Given the description of an element on the screen output the (x, y) to click on. 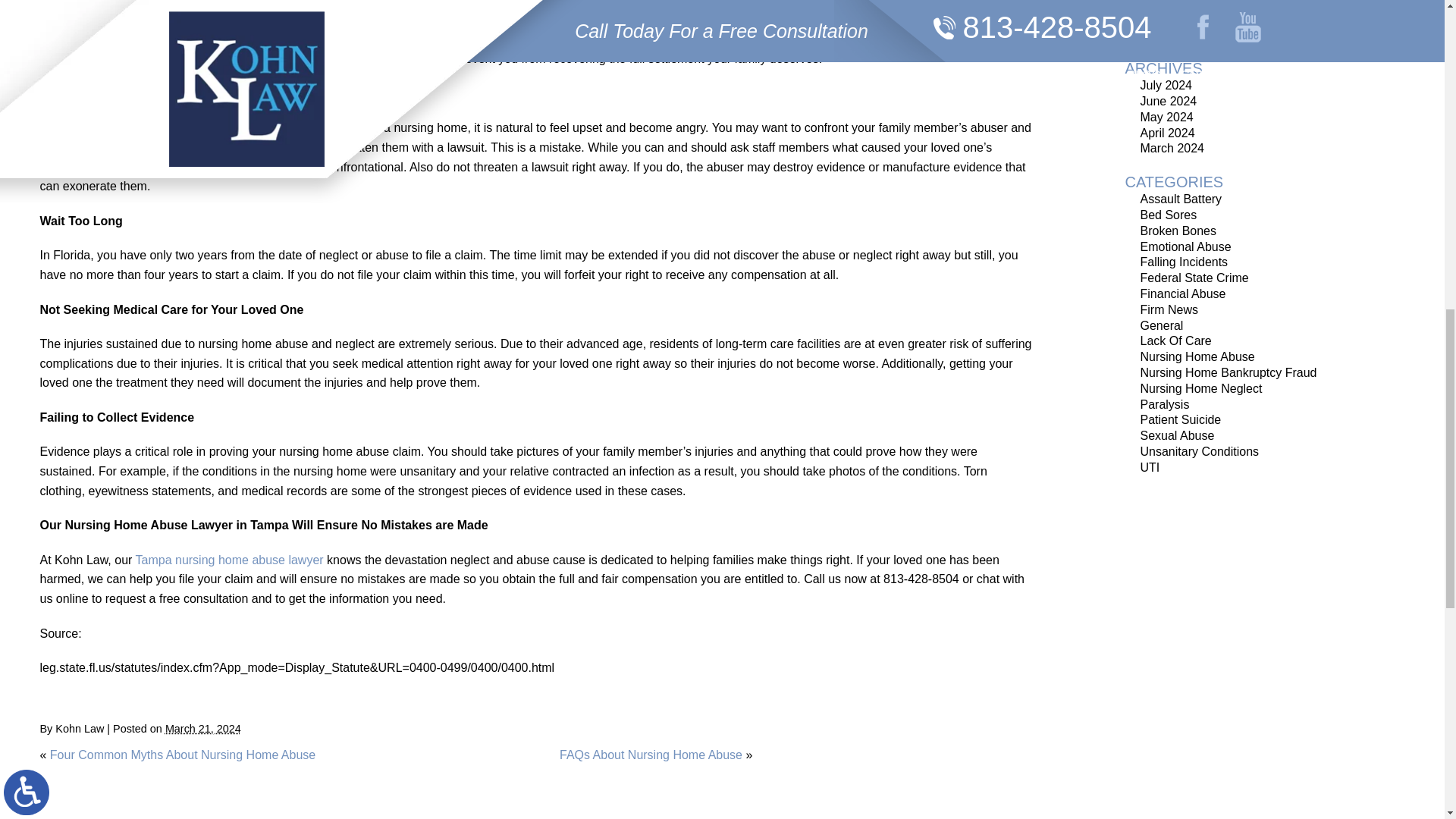
Twitter (74, 698)
2024-03-21T03:00:51-0700 (203, 728)
Facebook (63, 698)
LinkedIn (85, 698)
MistakesAvoid (114, 56)
